Given the description of an element on the screen output the (x, y) to click on. 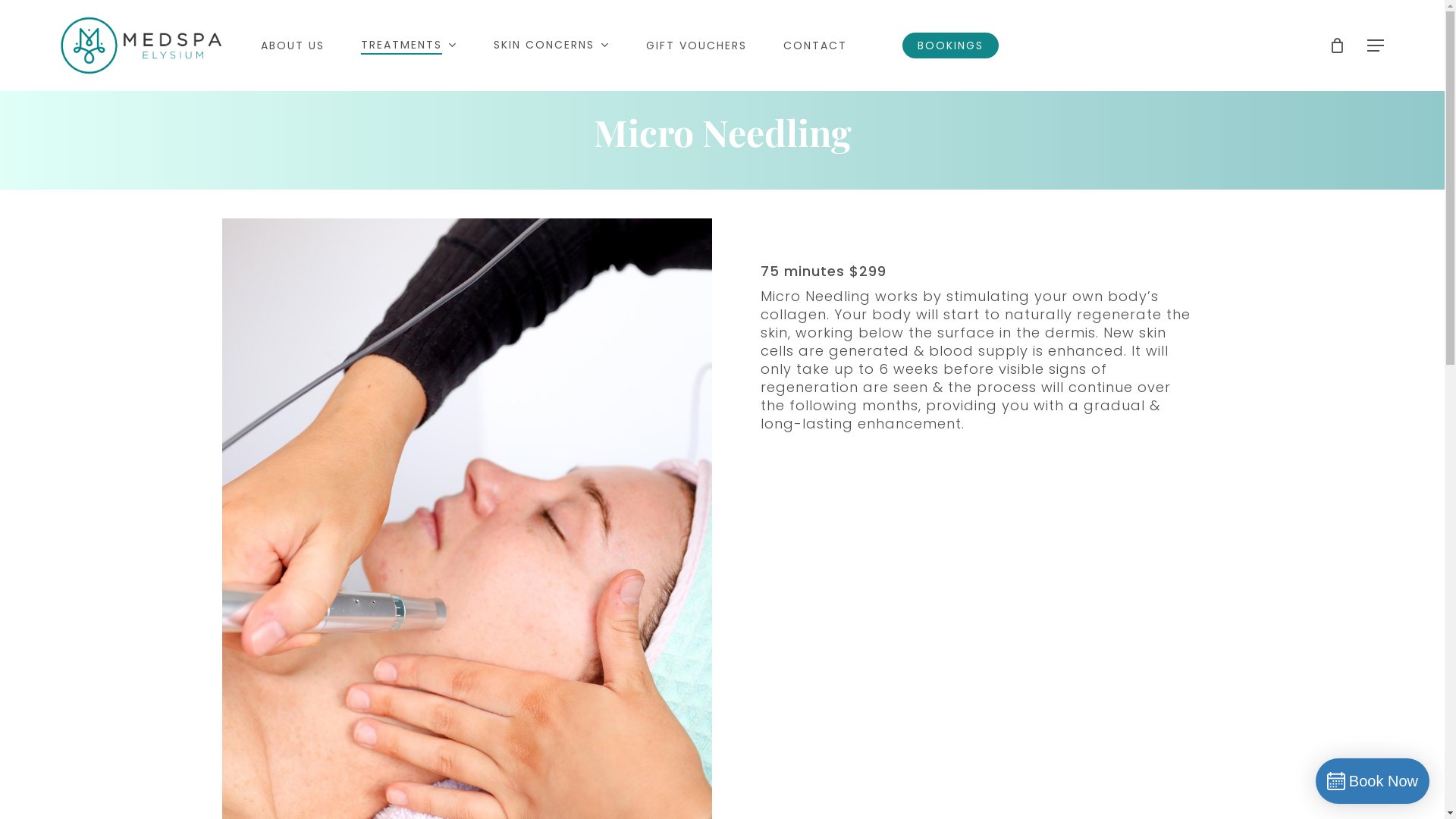
Menu Element type: text (1415, 7)
SKIN CONCERNS Element type: text (551, 44)
GIFT VOUCHERS Element type: text (696, 45)
Book Now Element type: text (1372, 780)
TREATMENTS Element type: text (408, 44)
ABOUT US Element type: text (292, 45)
CONTACT Element type: text (815, 45)
BOOKINGS Element type: text (950, 45)
Menu Element type: text (1376, 45)
